Given the description of an element on the screen output the (x, y) to click on. 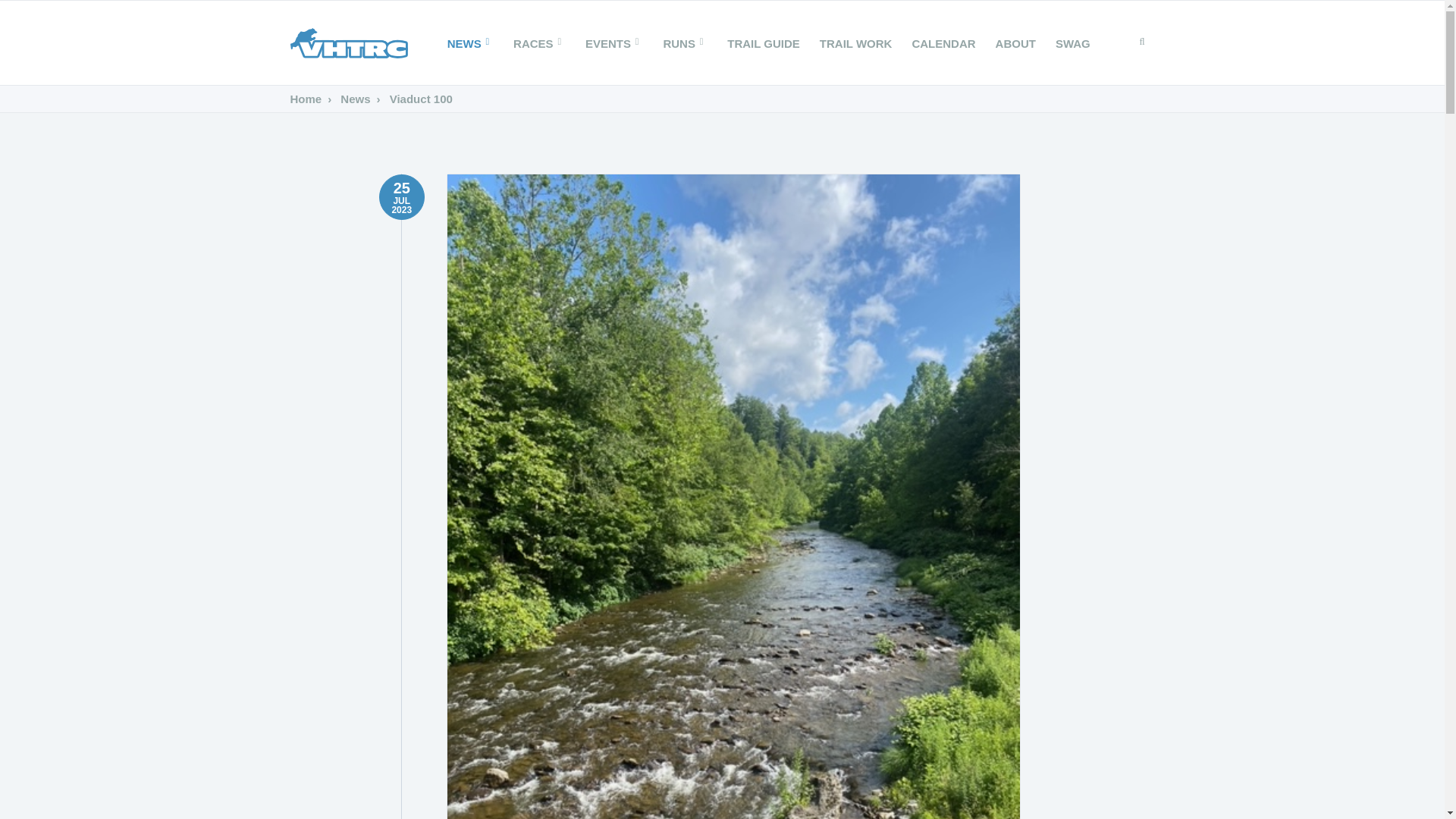
EVENTS (613, 43)
NEWS (470, 43)
News (345, 98)
RUNS (684, 43)
Home (305, 98)
SWAG (1072, 43)
ABOUT (1015, 43)
CALENDAR (943, 43)
RACES (539, 43)
TRAIL WORK (855, 43)
TRAIL GUIDE (763, 43)
